Given the description of an element on the screen output the (x, y) to click on. 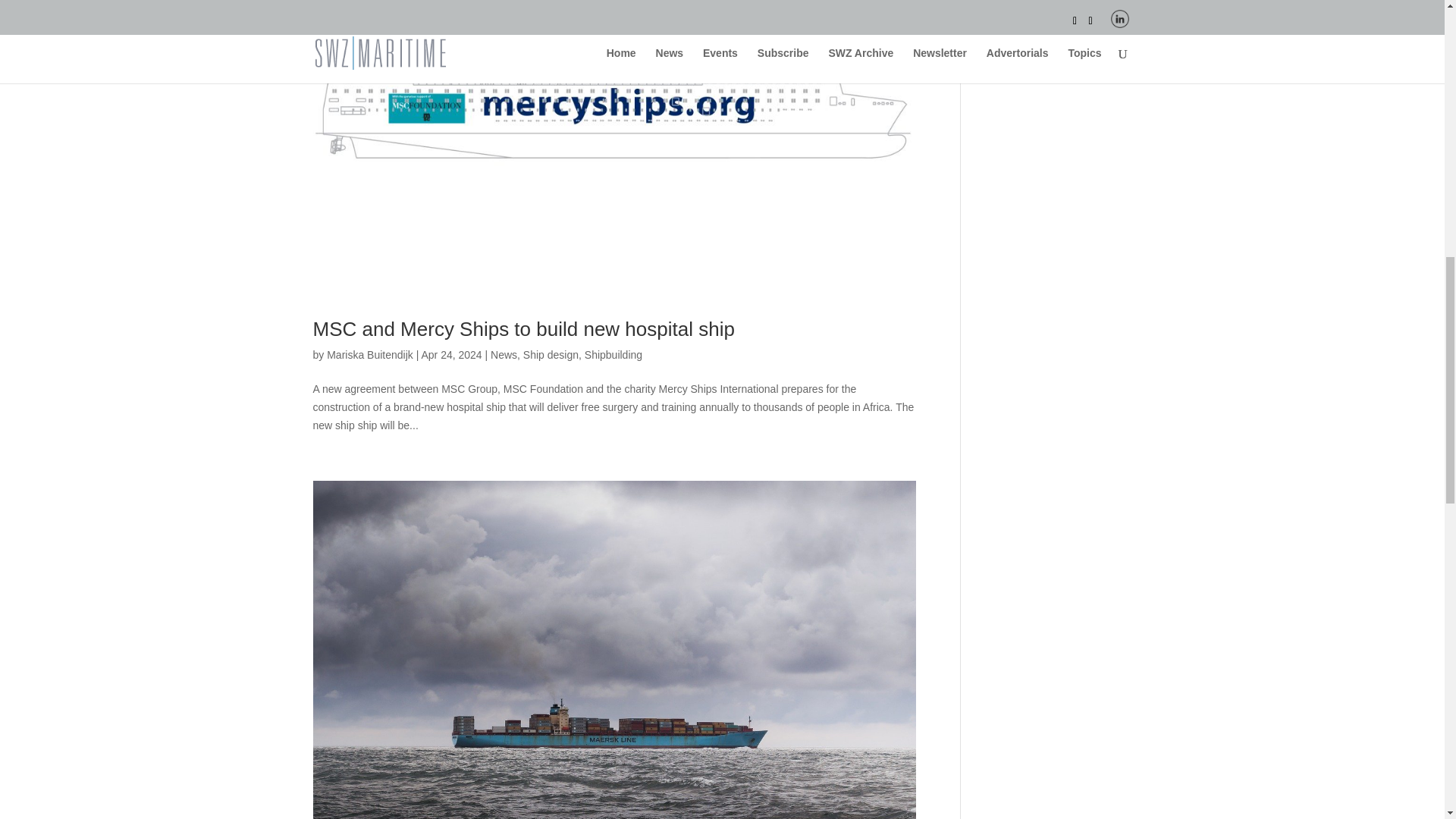
Shipbuilding (613, 354)
Ship design (550, 354)
Mariska Buitendijk (369, 354)
News (503, 354)
Posts by Mariska Buitendijk (369, 354)
MSC and Mercy Ships to build new hospital ship (523, 328)
